Given the description of an element on the screen output the (x, y) to click on. 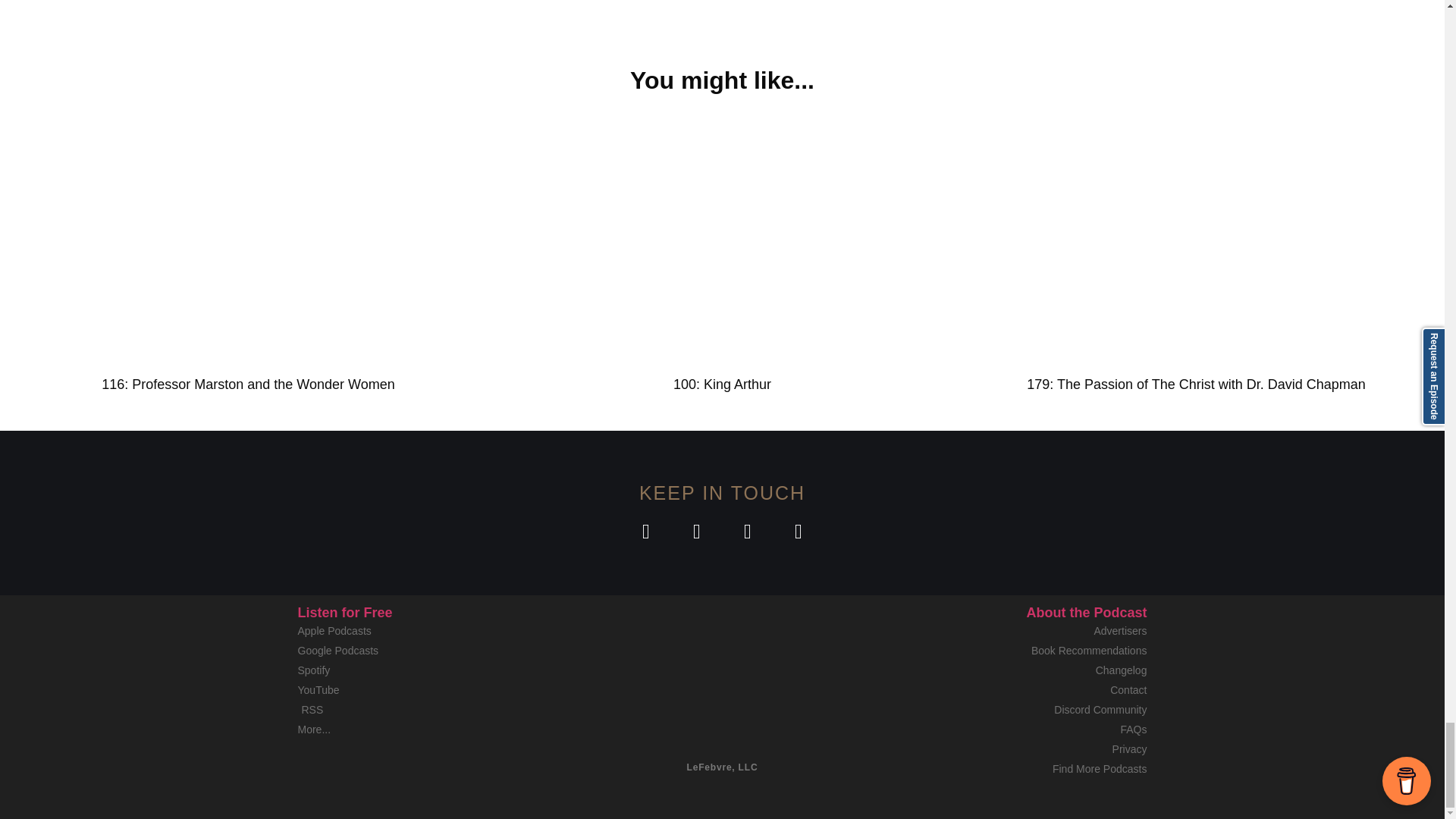
About the Podcast (1086, 612)
Changelog (1010, 670)
Listen for Free (344, 612)
179: The Passion of The Christ with Dr. David Chapman (1195, 384)
Apple Podcasts (433, 631)
Discord Community (1010, 709)
Contact (1010, 690)
Advertisers (1010, 631)
FAQs (1010, 729)
116: Professor Marston and the Wonder Women (247, 384)
100: King Arthur (721, 384)
Spotify (433, 670)
Google Podcasts (433, 650)
Book Recommendations (1010, 650)
YouTube (433, 690)
